Given the description of an element on the screen output the (x, y) to click on. 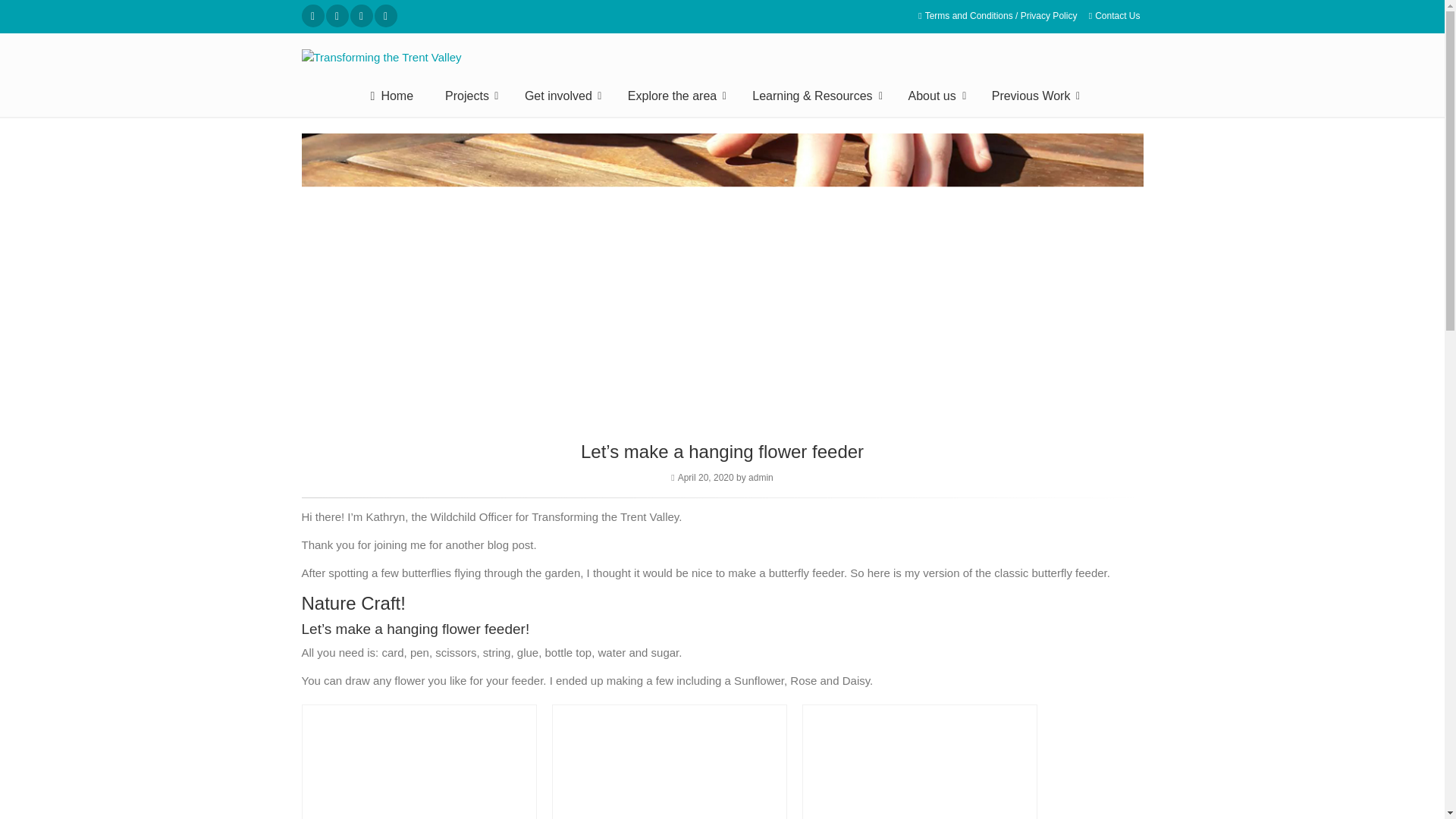
Explore the area (673, 96)
Facebook thetrentvalley (337, 15)
Transforming the Trent Valley (721, 57)
Contact Us (1114, 15)
Instagram thetrentvalley (361, 15)
Get involved (560, 96)
Projects (468, 96)
Home (392, 96)
YouTube thetrentvalley (385, 15)
